Given the description of an element on the screen output the (x, y) to click on. 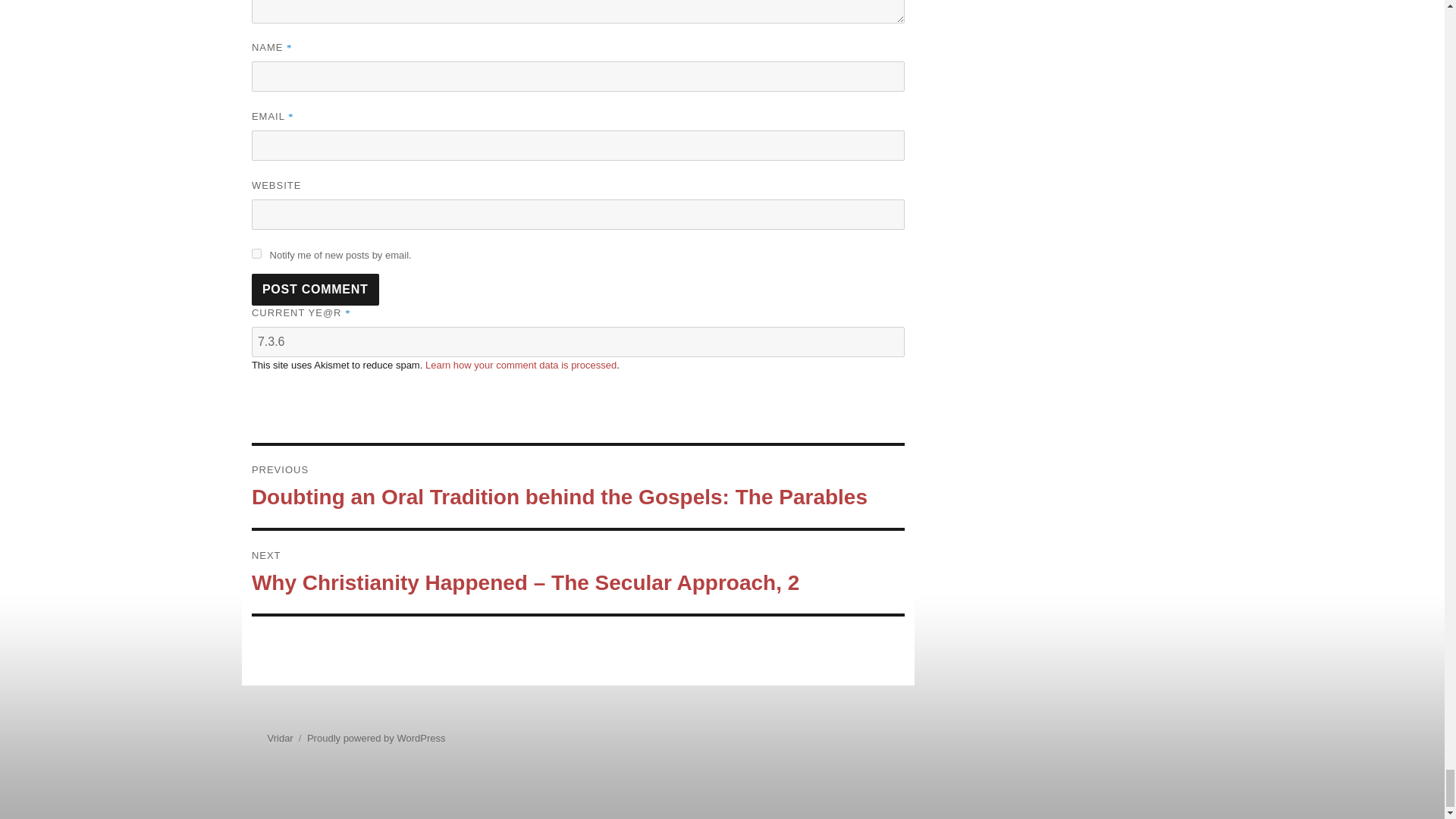
Post Comment (314, 289)
7.3.6 (577, 341)
subscribe (256, 253)
